Given the description of an element on the screen output the (x, y) to click on. 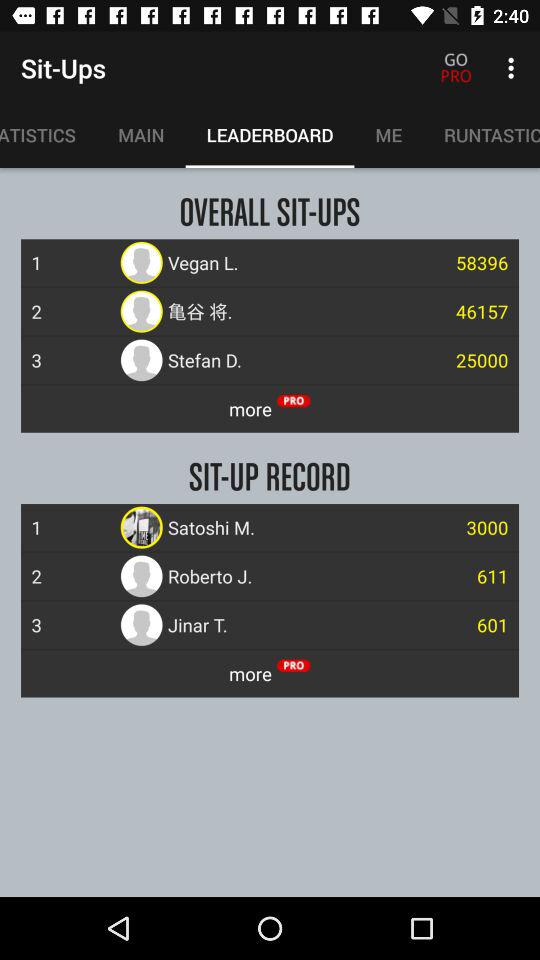
tap main item (141, 135)
